Given the description of an element on the screen output the (x, y) to click on. 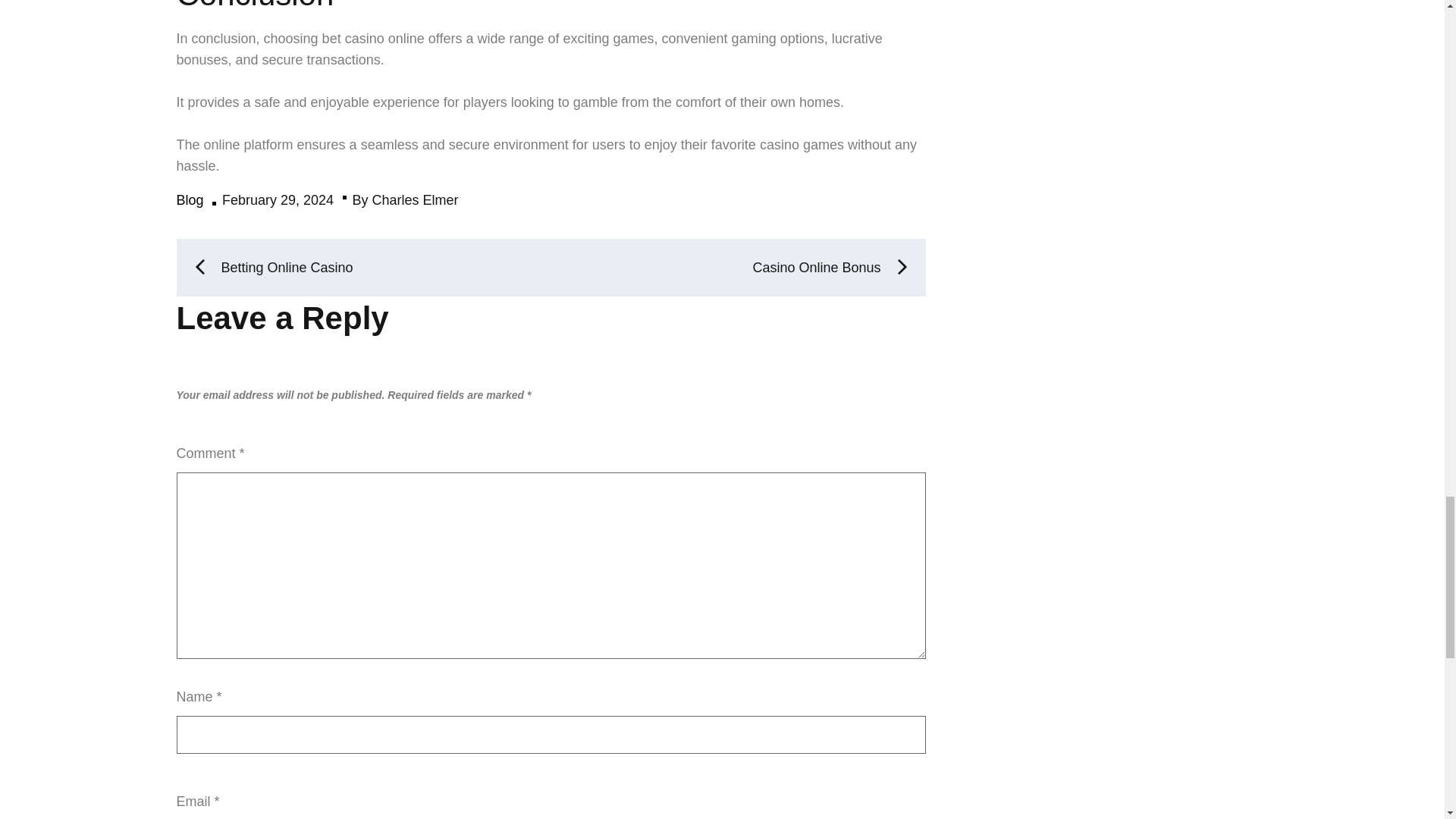
February 29, 2024 (277, 200)
Charles Elmer (415, 200)
Blog (189, 200)
